Given the description of an element on the screen output the (x, y) to click on. 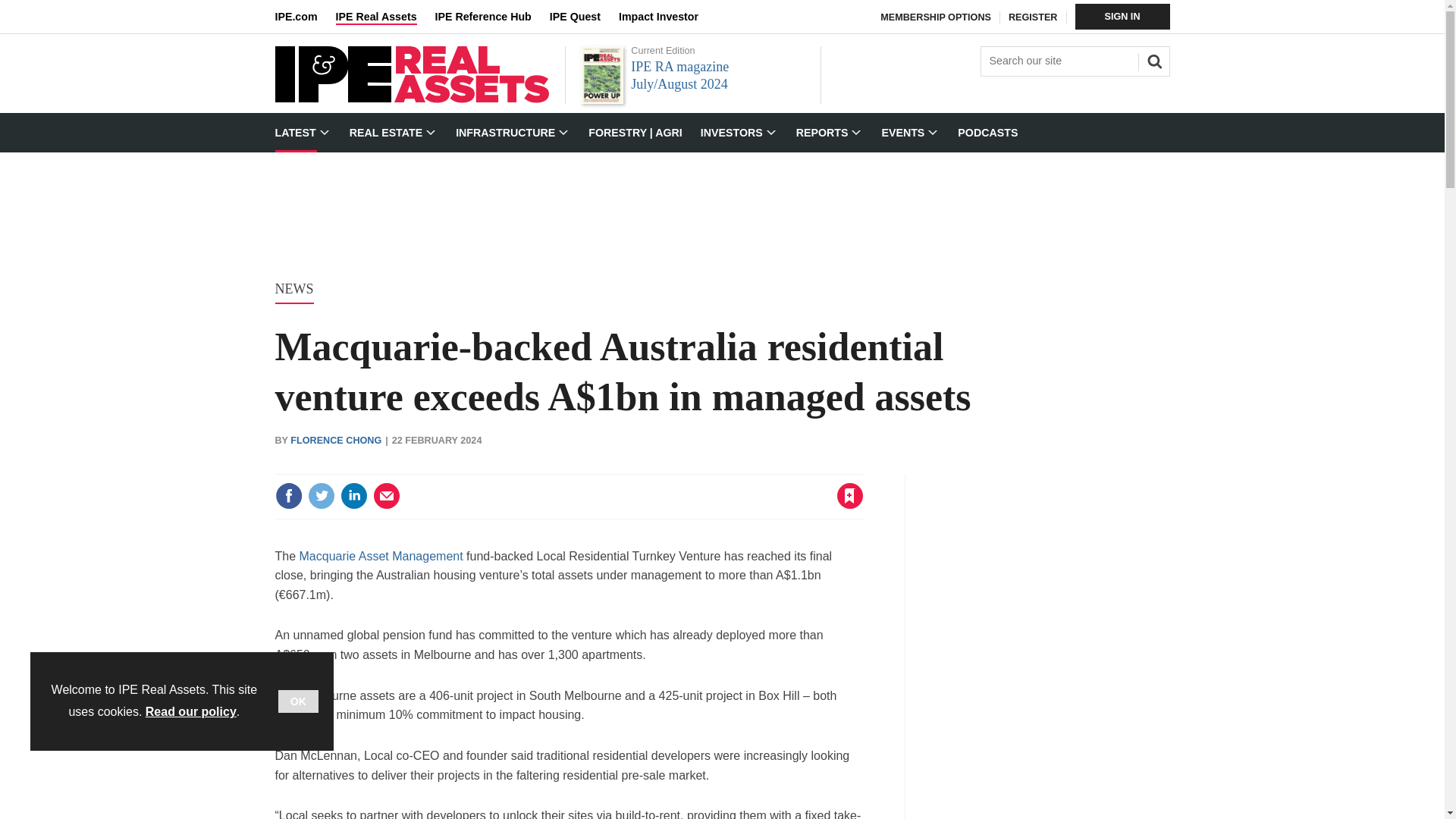
Share this on Facebook (288, 495)
Share this on Linked in (352, 495)
OK (298, 701)
IPE Quest (583, 16)
IPE.com (304, 16)
IPE Reference Hub (491, 16)
IPE Quest (583, 16)
Read our policy (190, 711)
SEARCH (1152, 59)
MEMBERSHIP OPTIONS (935, 17)
